Given the description of an element on the screen output the (x, y) to click on. 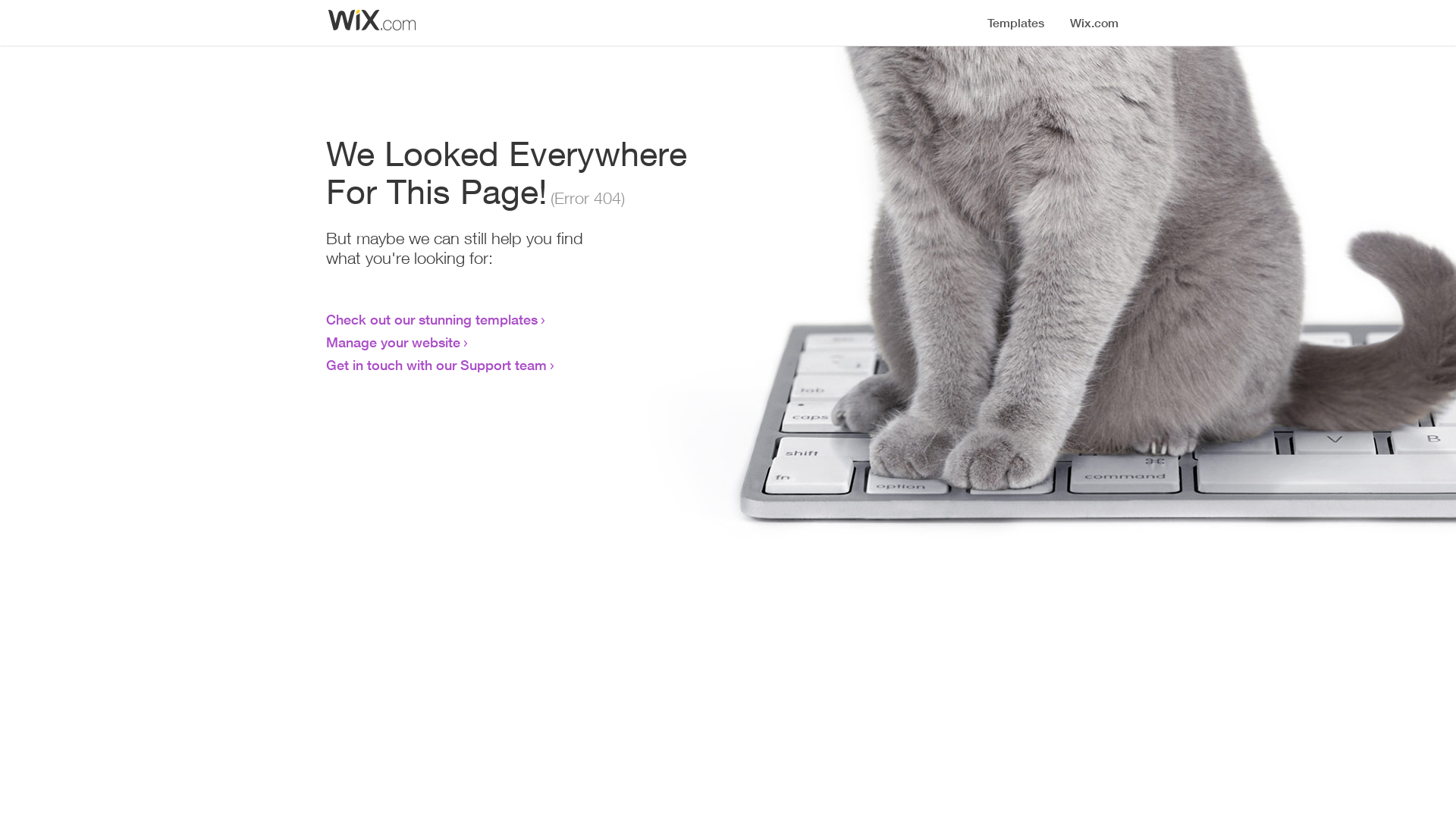
Manage your website Element type: text (393, 341)
Get in touch with our Support team Element type: text (436, 364)
Check out our stunning templates Element type: text (431, 318)
